Given the description of an element on the screen output the (x, y) to click on. 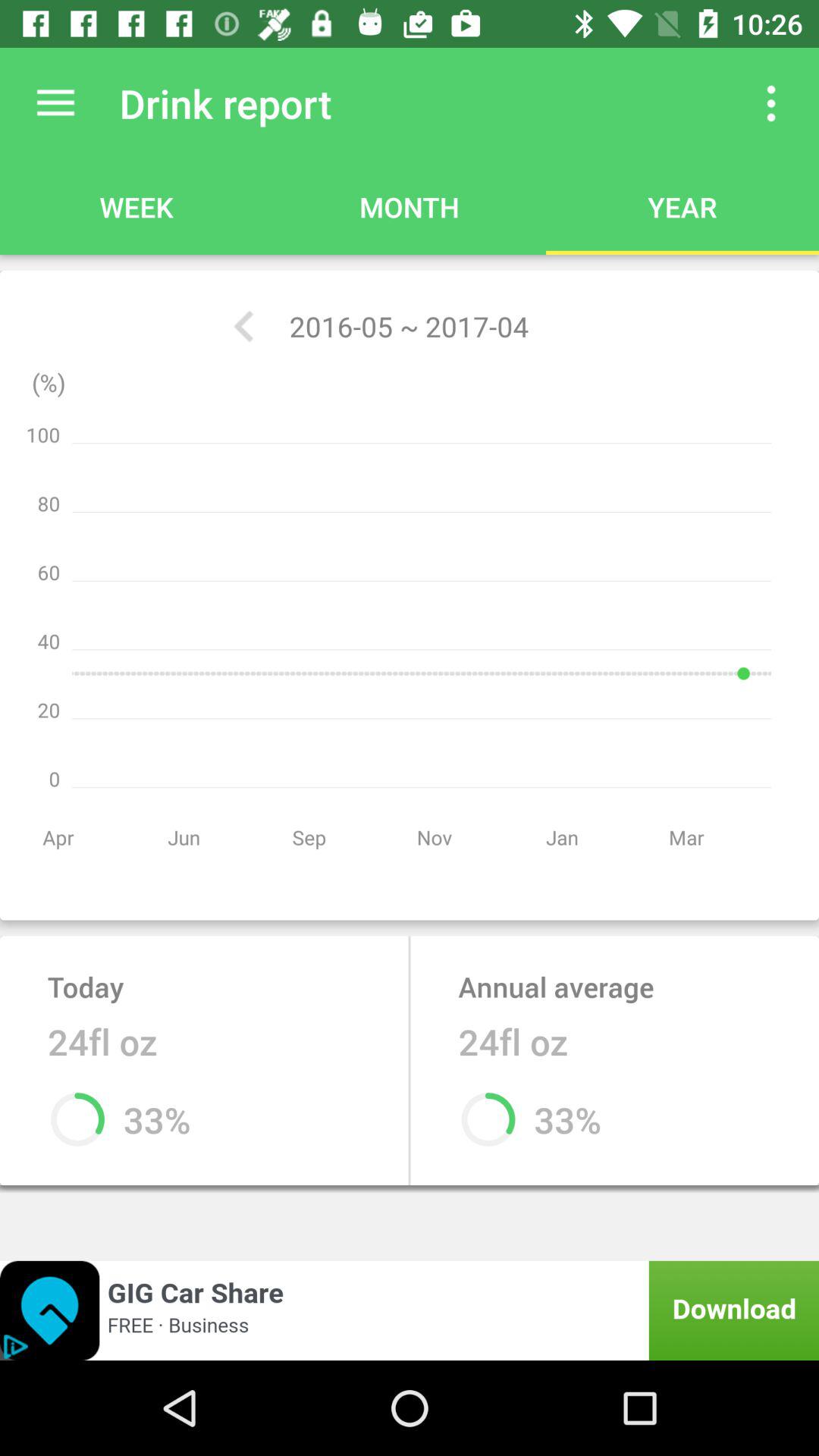
tap the icon next to 2016 05 2017 icon (243, 326)
